Given the description of an element on the screen output the (x, y) to click on. 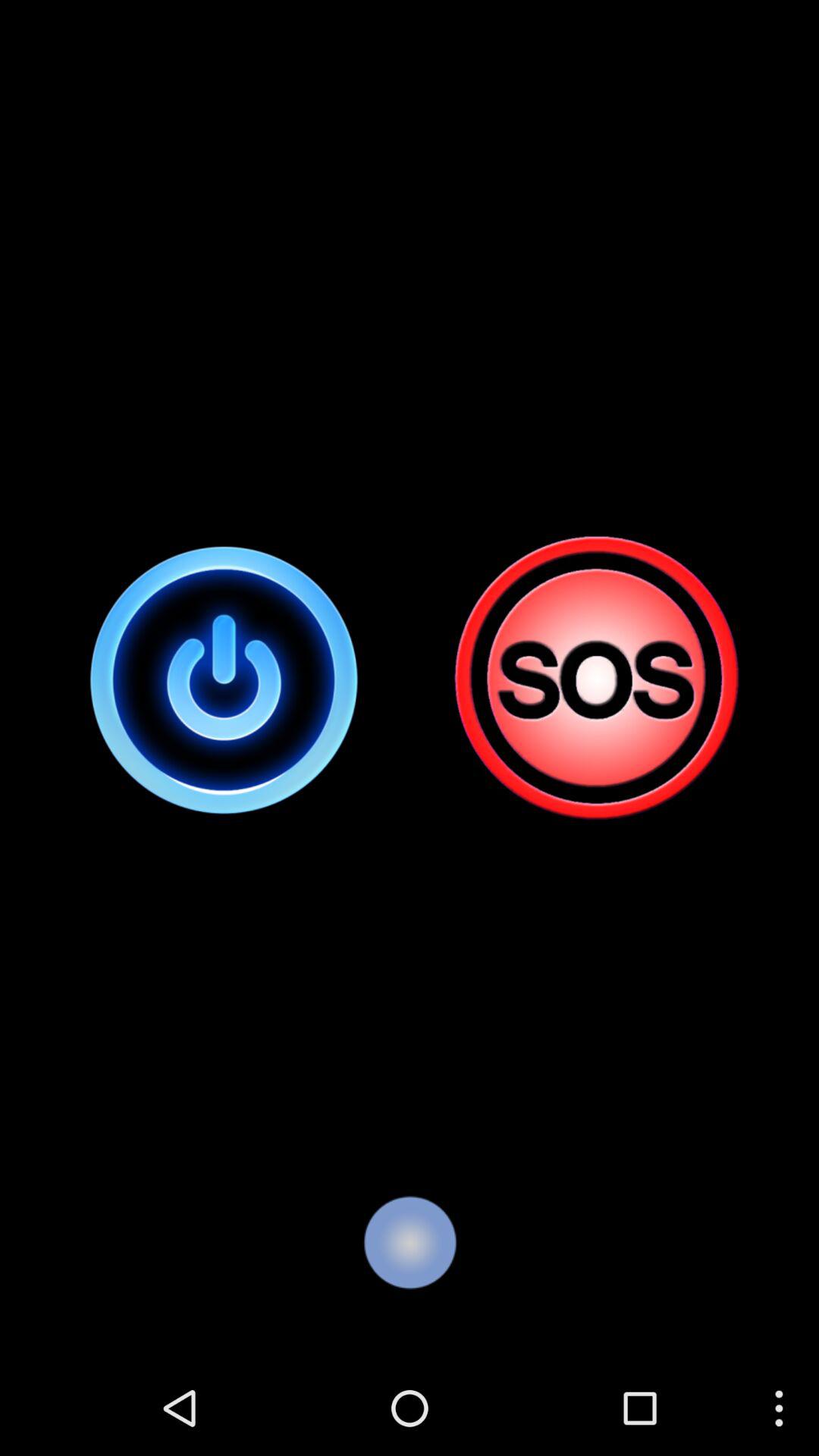
launch the button on the left (224, 679)
